Given the description of an element on the screen output the (x, y) to click on. 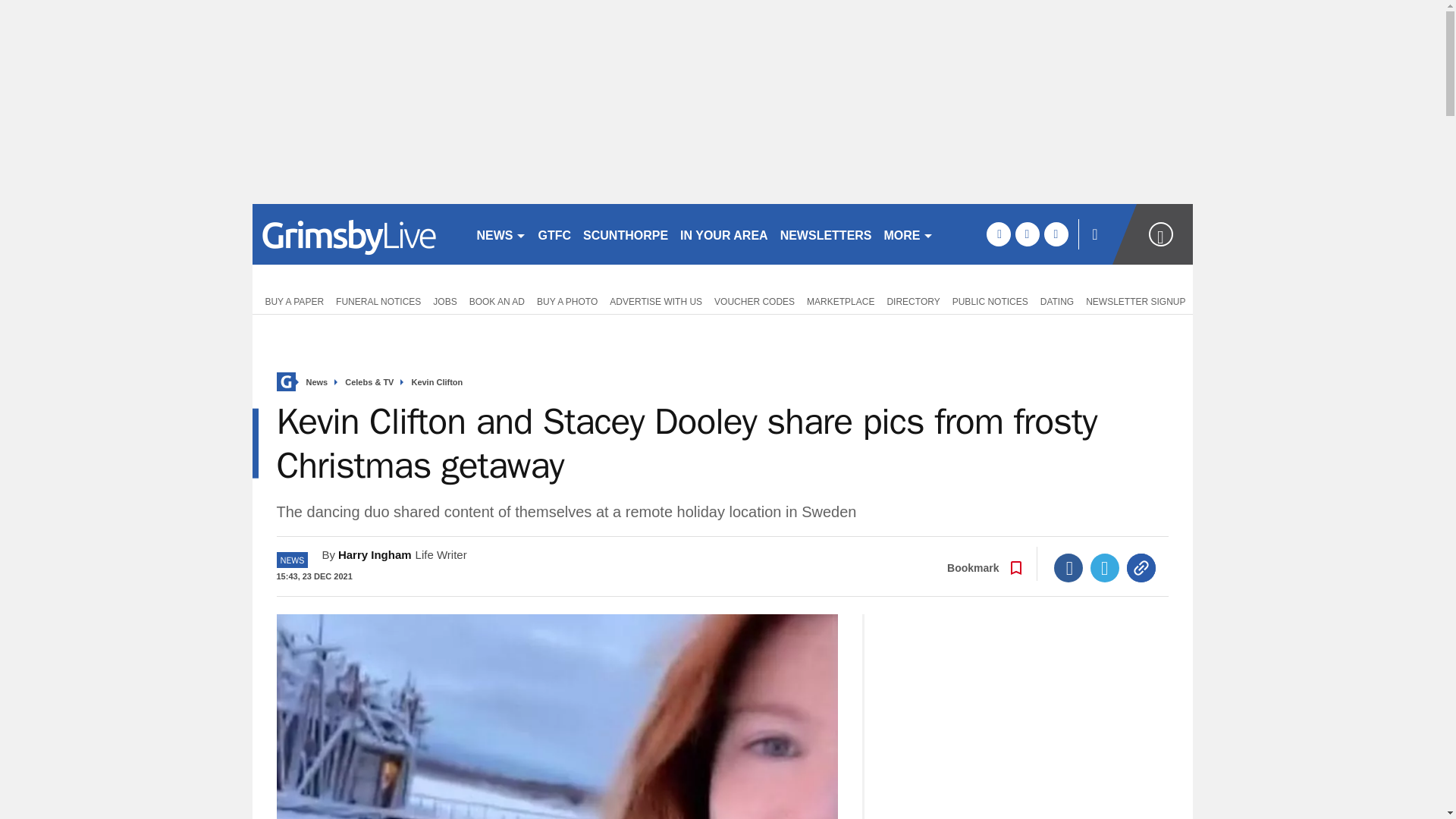
FUNERAL NOTICES (378, 300)
IN YOUR AREA (724, 233)
instagram (1055, 233)
VOUCHER CODES (753, 300)
ADVERTISE WITH US (655, 300)
NEWSLETTERS (825, 233)
facebook (997, 233)
Twitter (1104, 567)
BUY A PHOTO (567, 300)
twitter (1026, 233)
